Given the description of an element on the screen output the (x, y) to click on. 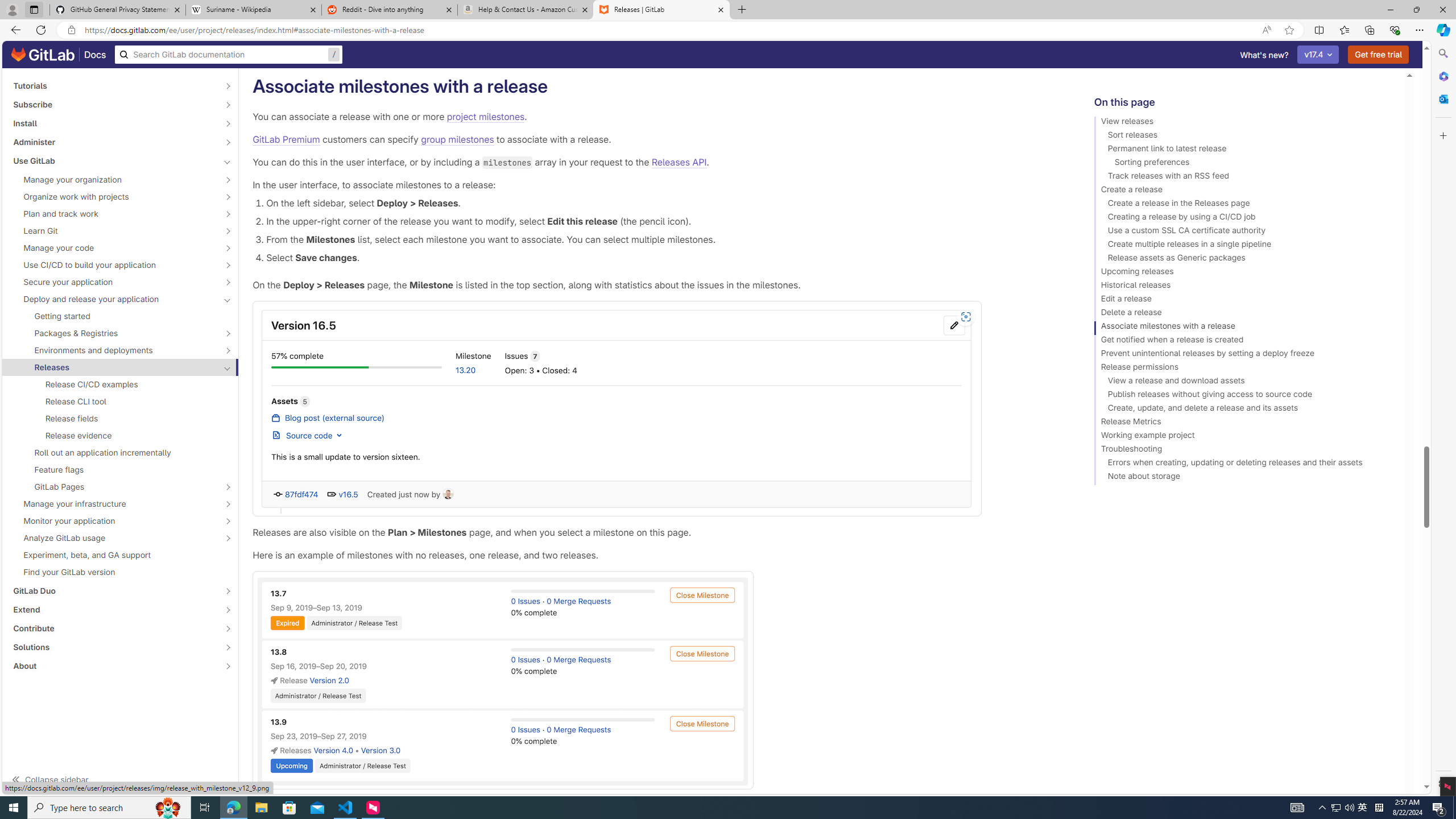
Delete a release (1244, 314)
Prevent unintentional releases by setting a deploy freeze (1244, 354)
Create a release in the Releases page (1244, 205)
Delete a release (1244, 314)
Upcoming releases (1244, 273)
Organize work with projects (113, 196)
